Given the description of an element on the screen output the (x, y) to click on. 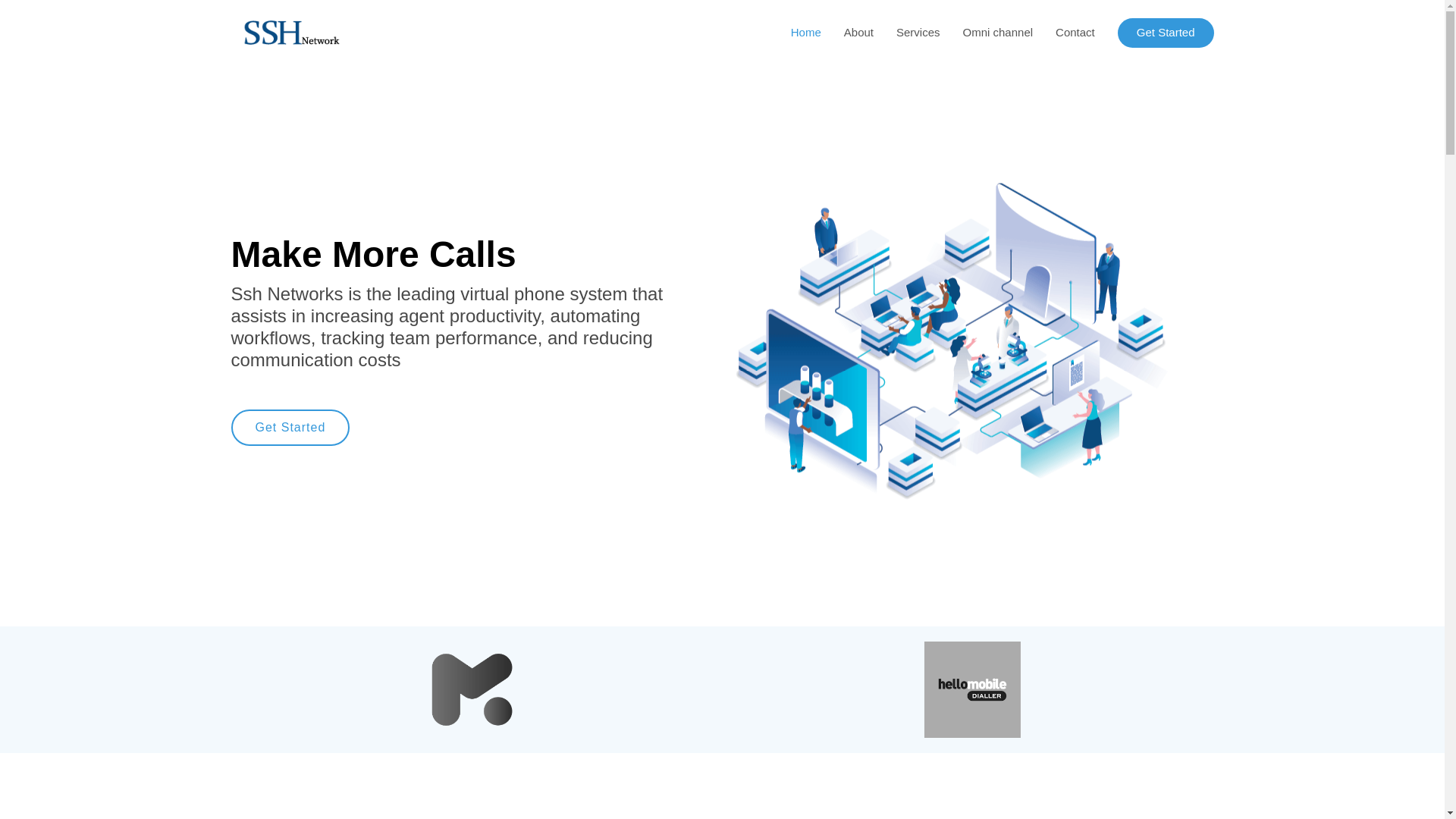
Contact (1063, 32)
About (847, 32)
Services (906, 32)
Get Started (1166, 32)
Services (906, 32)
Home (794, 32)
Home (794, 32)
Omni channel (986, 32)
Get Started (289, 427)
Omni channel (986, 32)
Contact (1063, 32)
About (847, 32)
Get Started (1166, 32)
Get Started (289, 427)
